Given the description of an element on the screen output the (x, y) to click on. 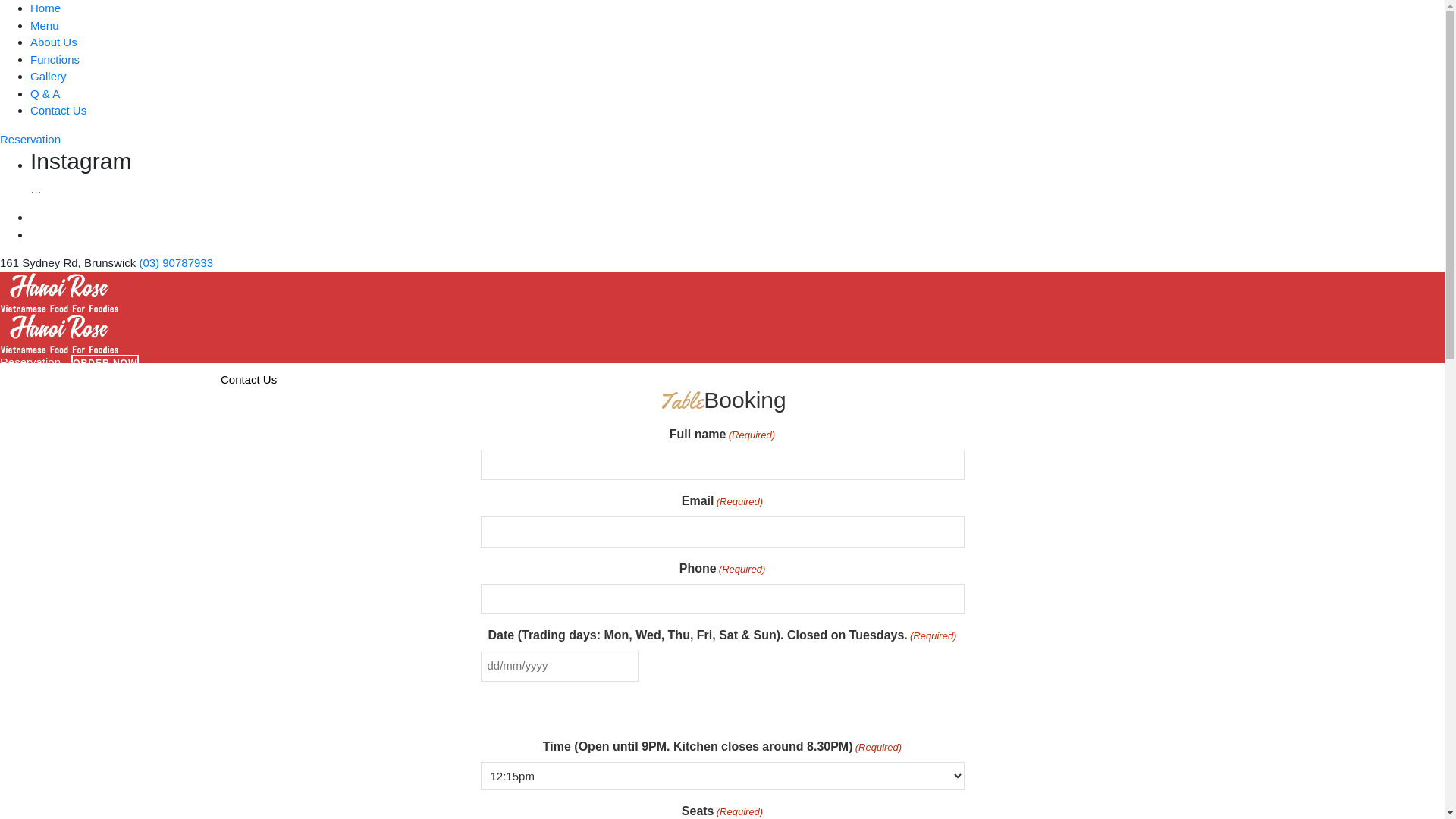
ORDER NOW Element type: text (104, 362)
Q & A Element type: text (205, 379)
Contact Us Element type: text (248, 379)
Q & A Element type: text (44, 92)
Functions Element type: text (54, 59)
Reservation Element type: text (30, 360)
Gallery Element type: text (48, 75)
Menu Element type: text (44, 24)
Reservation Element type: text (30, 137)
About Us Element type: text (82, 379)
Menu Element type: text (44, 379)
About Us Element type: text (53, 41)
Home Element type: text (15, 379)
(03) 90787933 Element type: text (175, 262)
Home Element type: text (45, 7)
Functions Element type: text (129, 379)
Contact Us Element type: text (58, 109)
Gallery Element type: text (172, 379)
